Given the description of an element on the screen output the (x, y) to click on. 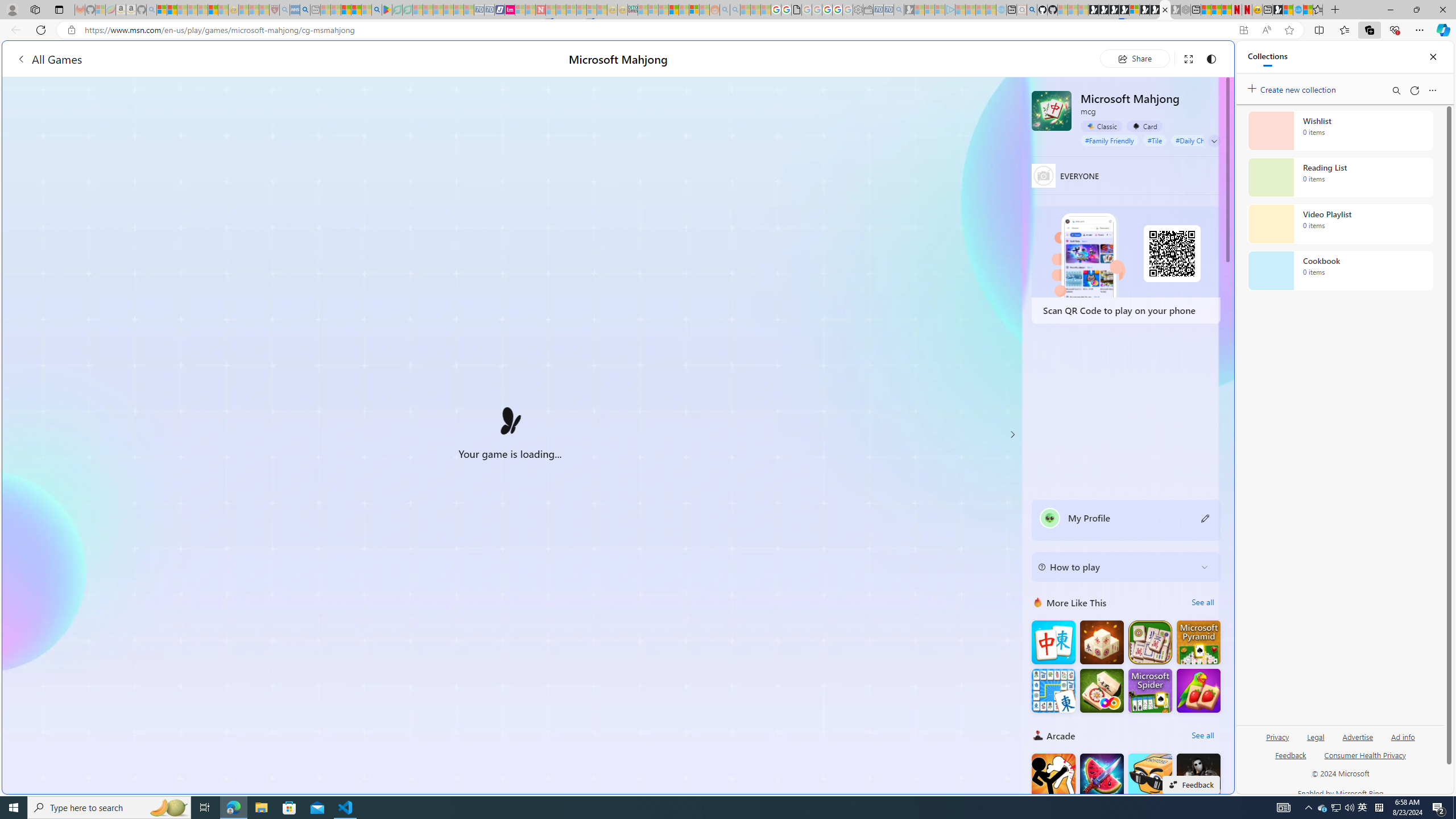
Arcade (1037, 735)
Sign in to your account (1134, 9)
Play Cave FRVR in your browser | Games from Microsoft Start (922, 242)
